Given the description of an element on the screen output the (x, y) to click on. 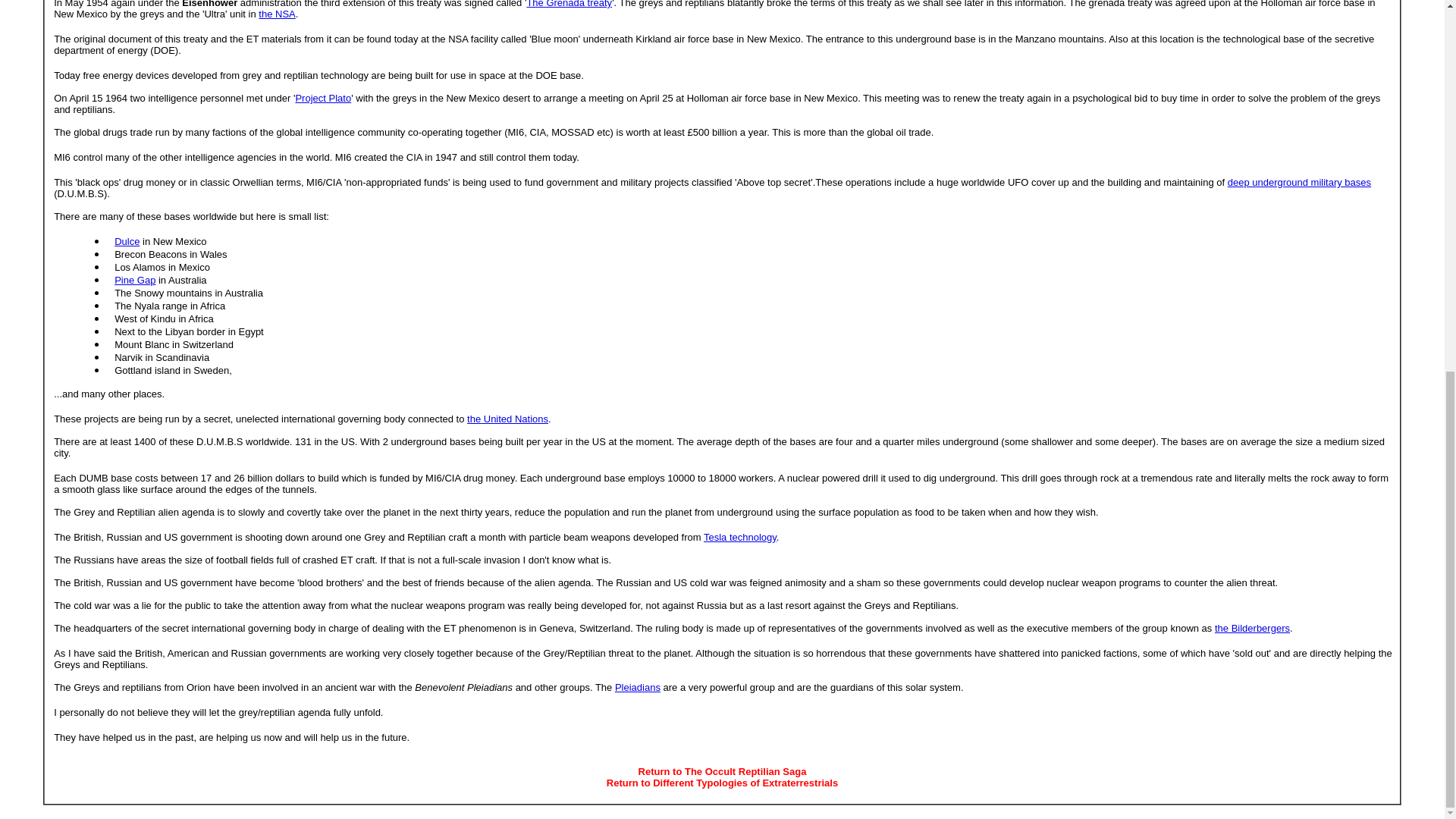
the United Nations (507, 419)
Return to The Occult Reptilian Saga (722, 771)
Return to Different Typologies of Extraterrestrials (722, 782)
Pine Gap (135, 279)
Pleiadians (637, 686)
The Grenada treaty (568, 4)
the NSA (277, 13)
Project Plato (322, 98)
the Bilderbergers (1252, 627)
Tesla technology (739, 536)
